Given the description of an element on the screen output the (x, y) to click on. 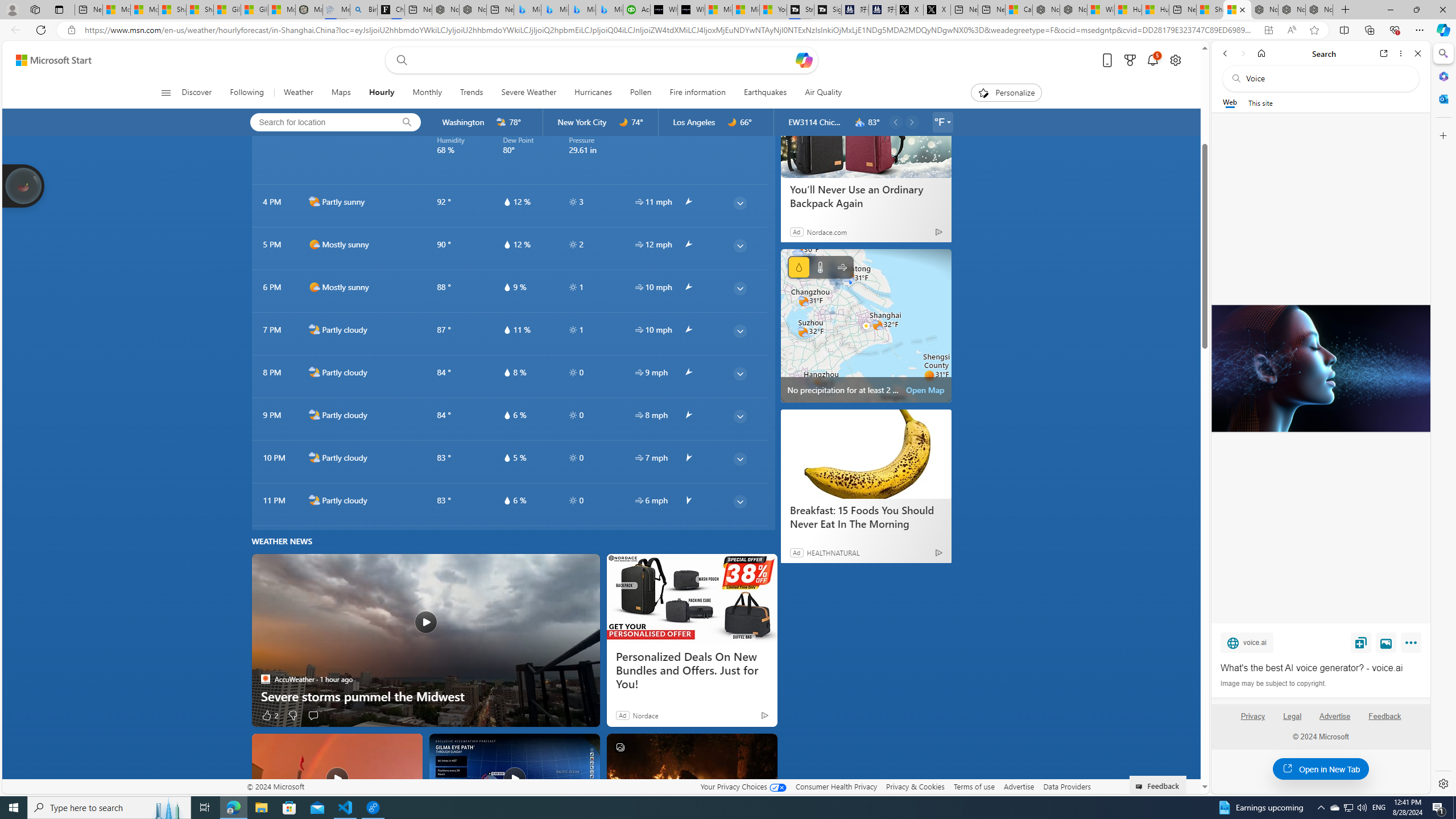
Fire information (698, 92)
Temperature (820, 267)
Legal (1292, 720)
This site scope (1259, 102)
Monthly (427, 92)
Image may be subject to copyright. (1273, 682)
Fire information (697, 92)
